Given the description of an element on the screen output the (x, y) to click on. 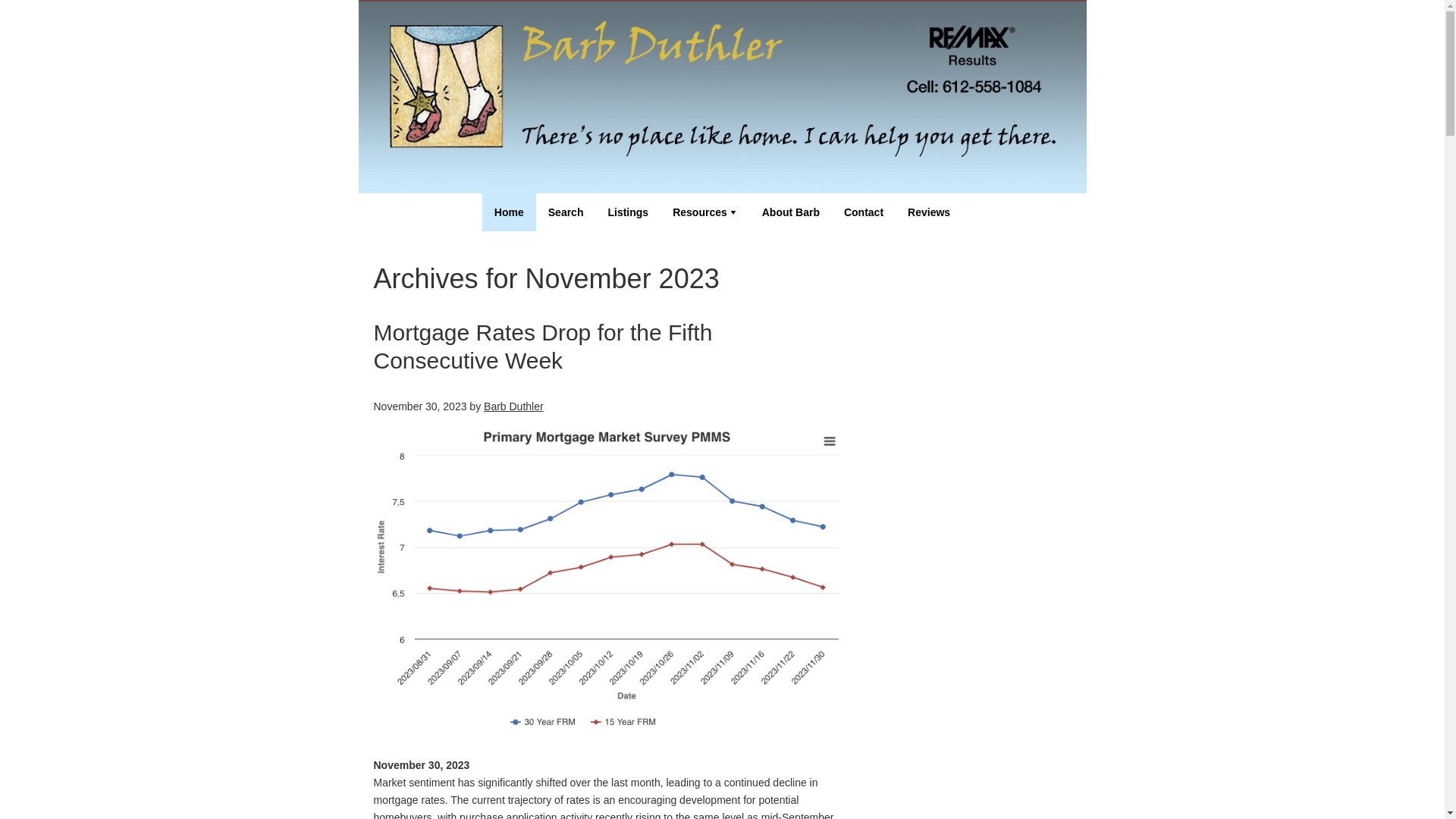
Contact (863, 211)
Resources (705, 211)
About Barb (790, 211)
Search (565, 211)
Barb Duthler (513, 406)
Reviews (928, 211)
Listings (628, 211)
Home (508, 211)
Mortgage Rates Drop for the Fifth Consecutive Week (541, 346)
